Given the description of an element on the screen output the (x, y) to click on. 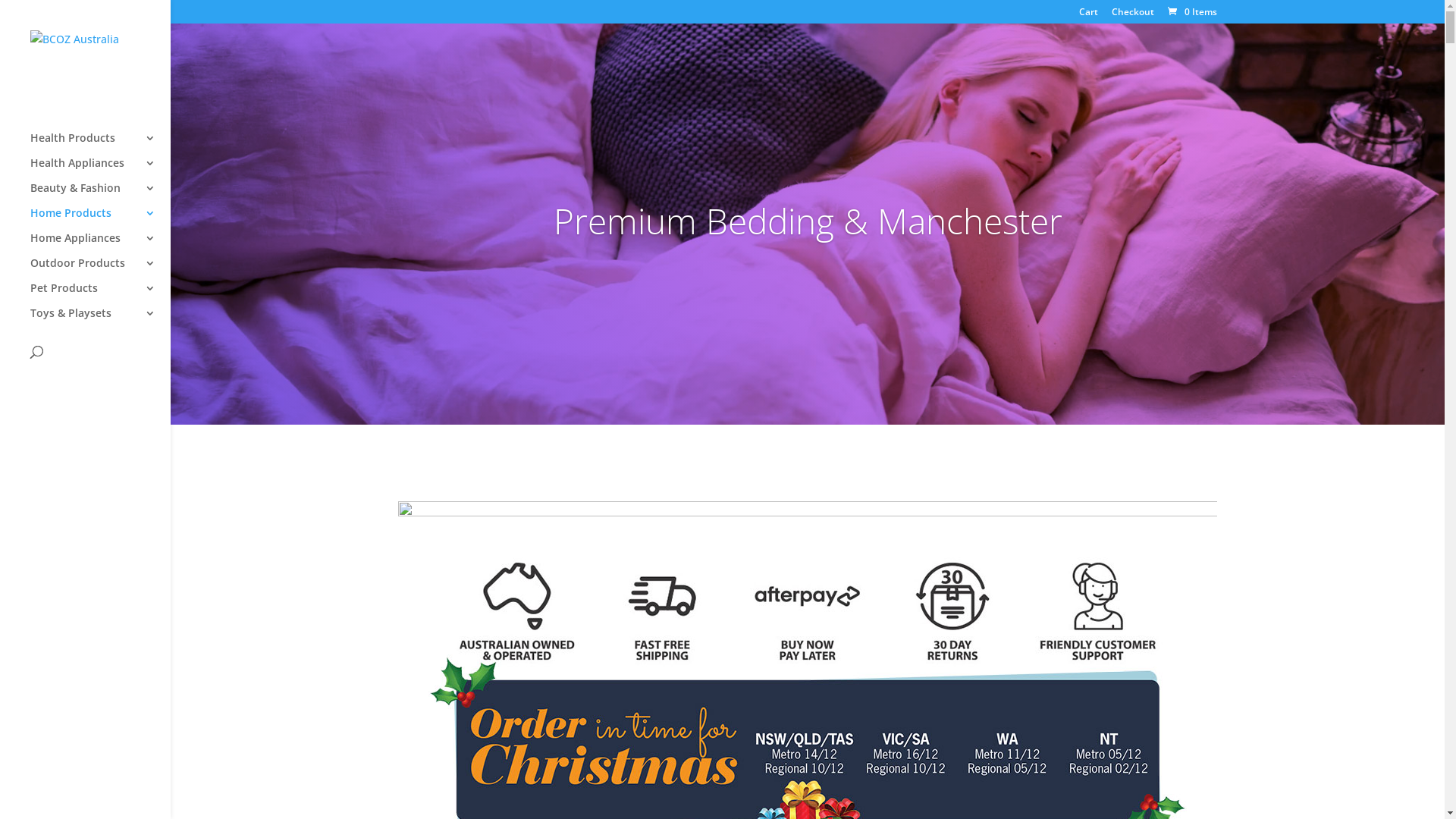
Pet Products Element type: text (100, 294)
0 Items Element type: text (1191, 11)
Health Appliances Element type: text (100, 169)
Home Appliances Element type: text (100, 244)
Cart Element type: text (1088, 15)
Checkout Element type: text (1132, 15)
Health Products Element type: text (100, 144)
Outdoor Products Element type: text (100, 269)
Home Products Element type: text (100, 219)
Toys & Playsets Element type: text (100, 319)
Beauty & Fashion Element type: text (100, 194)
